Given the description of an element on the screen output the (x, y) to click on. 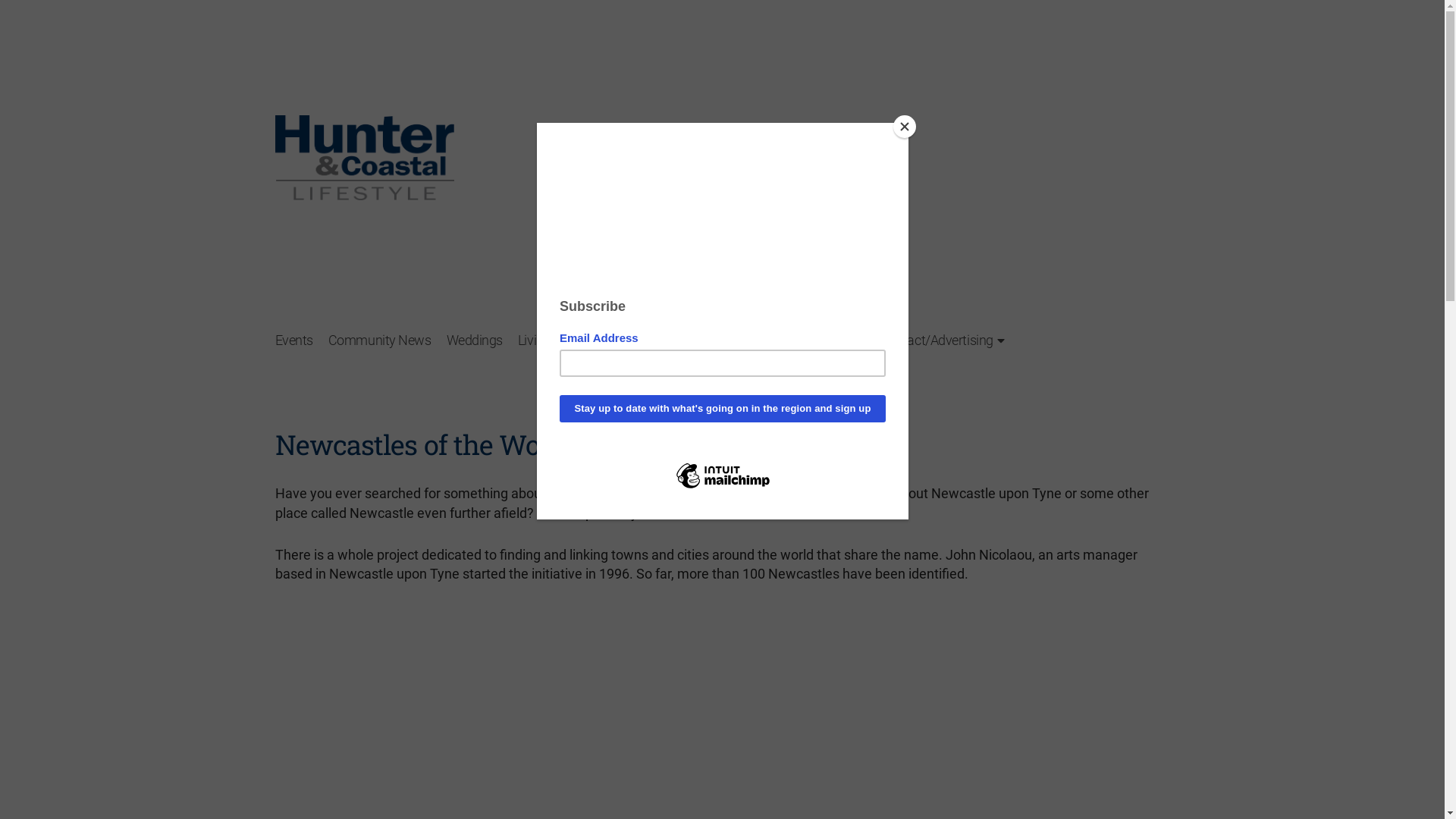
Contact/Advertising Element type: text (941, 340)
Living Element type: text (533, 340)
Stories Element type: text (585, 340)
Subscribe Element type: text (836, 340)
Events Element type: text (293, 340)
Weddings Element type: text (474, 340)
Advertisement Element type: hover (893, 157)
Business Directory Element type: text (735, 340)
Homes Element type: text (641, 340)
Community News Element type: text (379, 340)
